Given the description of an element on the screen output the (x, y) to click on. 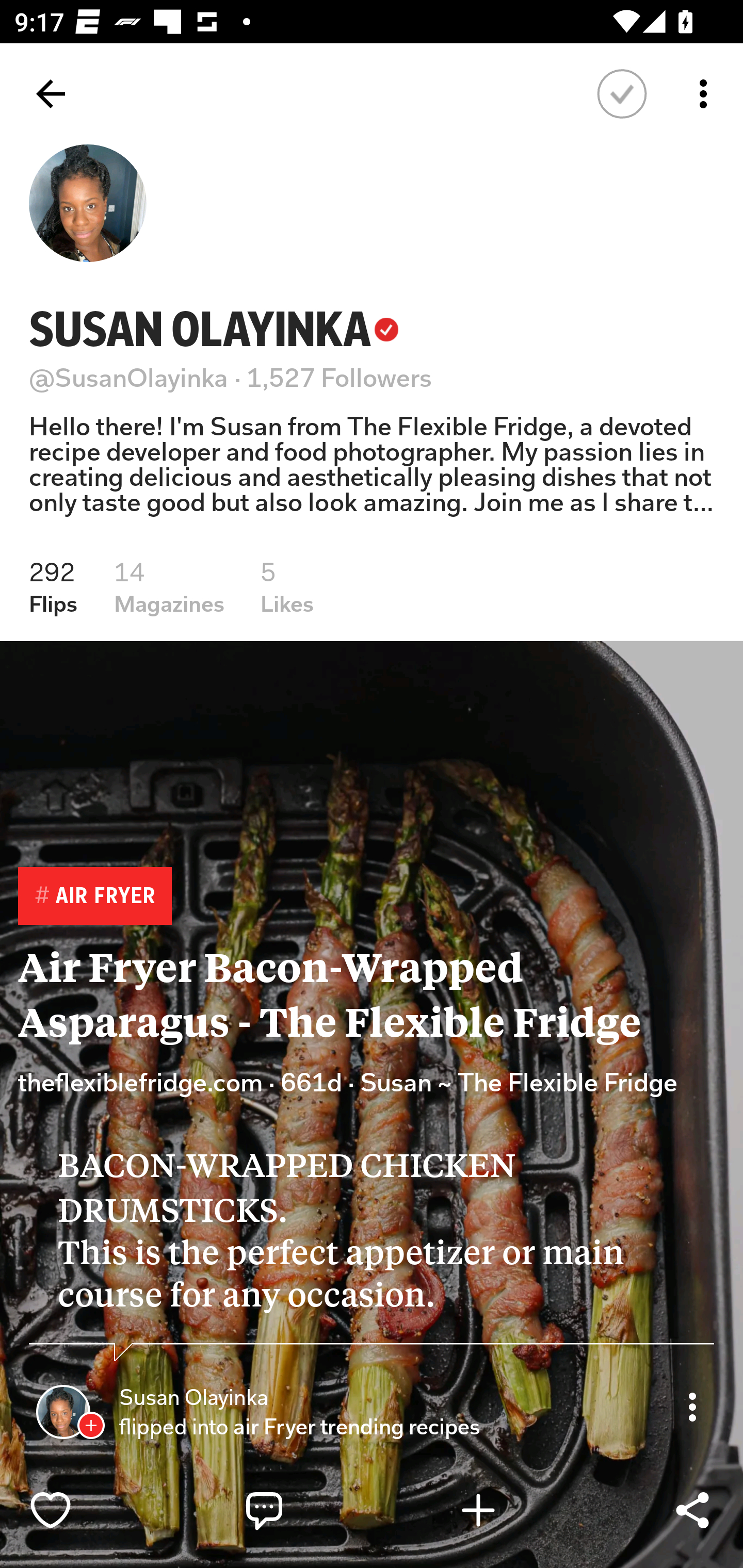
Back (50, 93)
More options (706, 93)
Following (622, 93)
SUSAN OLAYINKA (213, 328)
@SusanOlayinka (128, 377)
1,527 Followers (339, 377)
292 Flips (53, 587)
14 Magazines (168, 587)
5 Likes (287, 587)
# AIR FRYER (94, 896)
More (692, 1406)
Susan Olayinka (193, 1397)
flipped into air Fryer trending recipes  (301, 1426)
Like (93, 1509)
Write a comment… (307, 1509)
Flip into Magazine (521, 1509)
Share (692, 1509)
